Given the description of an element on the screen output the (x, y) to click on. 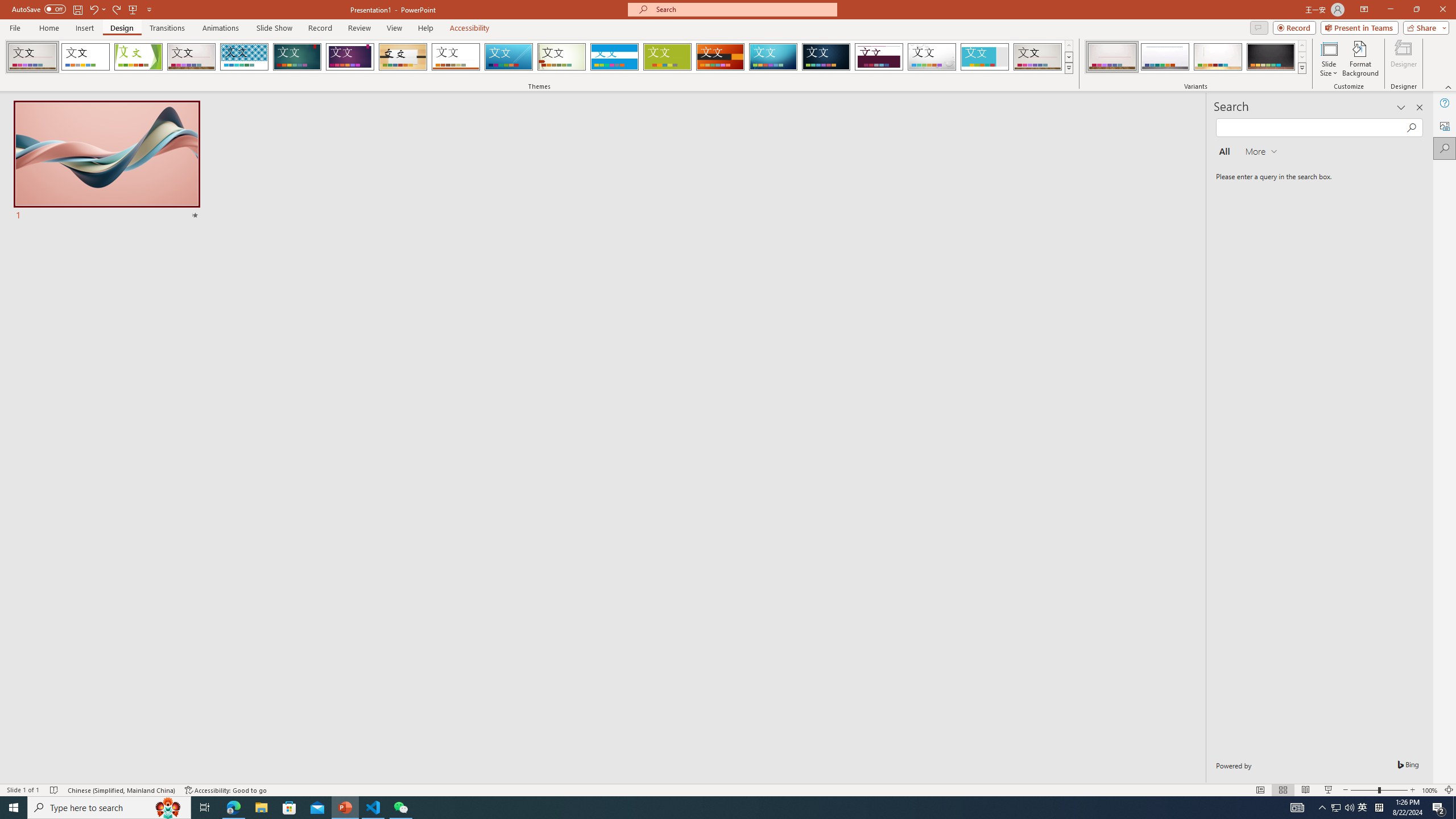
Circuit (772, 56)
Office Theme (85, 56)
Damask (826, 56)
Themes (1068, 67)
Dividend (879, 56)
Organic (403, 56)
